Given the description of an element on the screen output the (x, y) to click on. 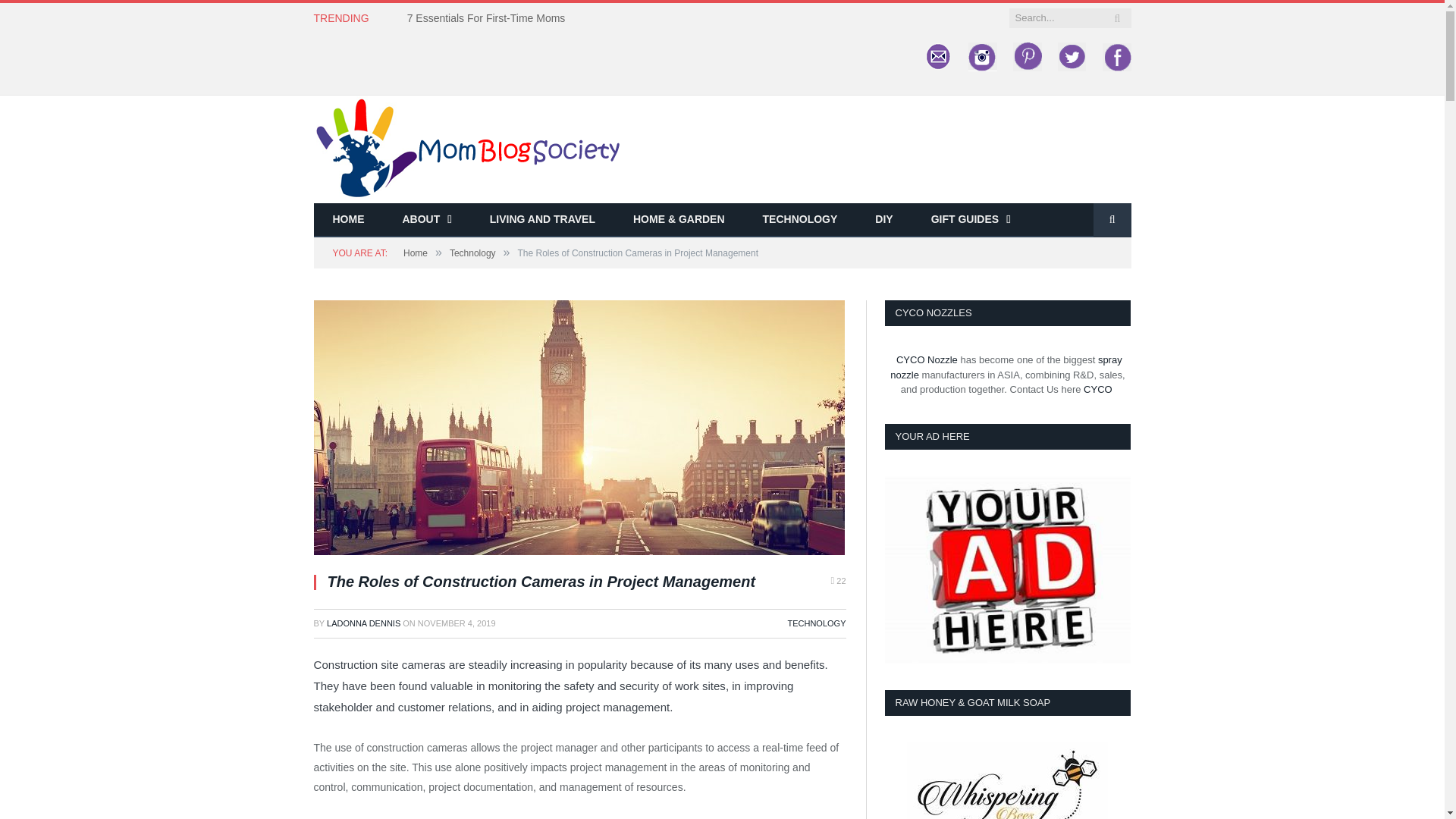
LIVING AND TRAVEL (542, 220)
HOME (349, 220)
7 Essentials For First-Time Moms (490, 18)
TECHNOLOGY (800, 220)
ABOUT (427, 220)
DIY (883, 220)
Mom Blog Society (467, 146)
GIFT GUIDES (970, 220)
7 Essentials For First-Time Moms (490, 18)
